Given the description of an element on the screen output the (x, y) to click on. 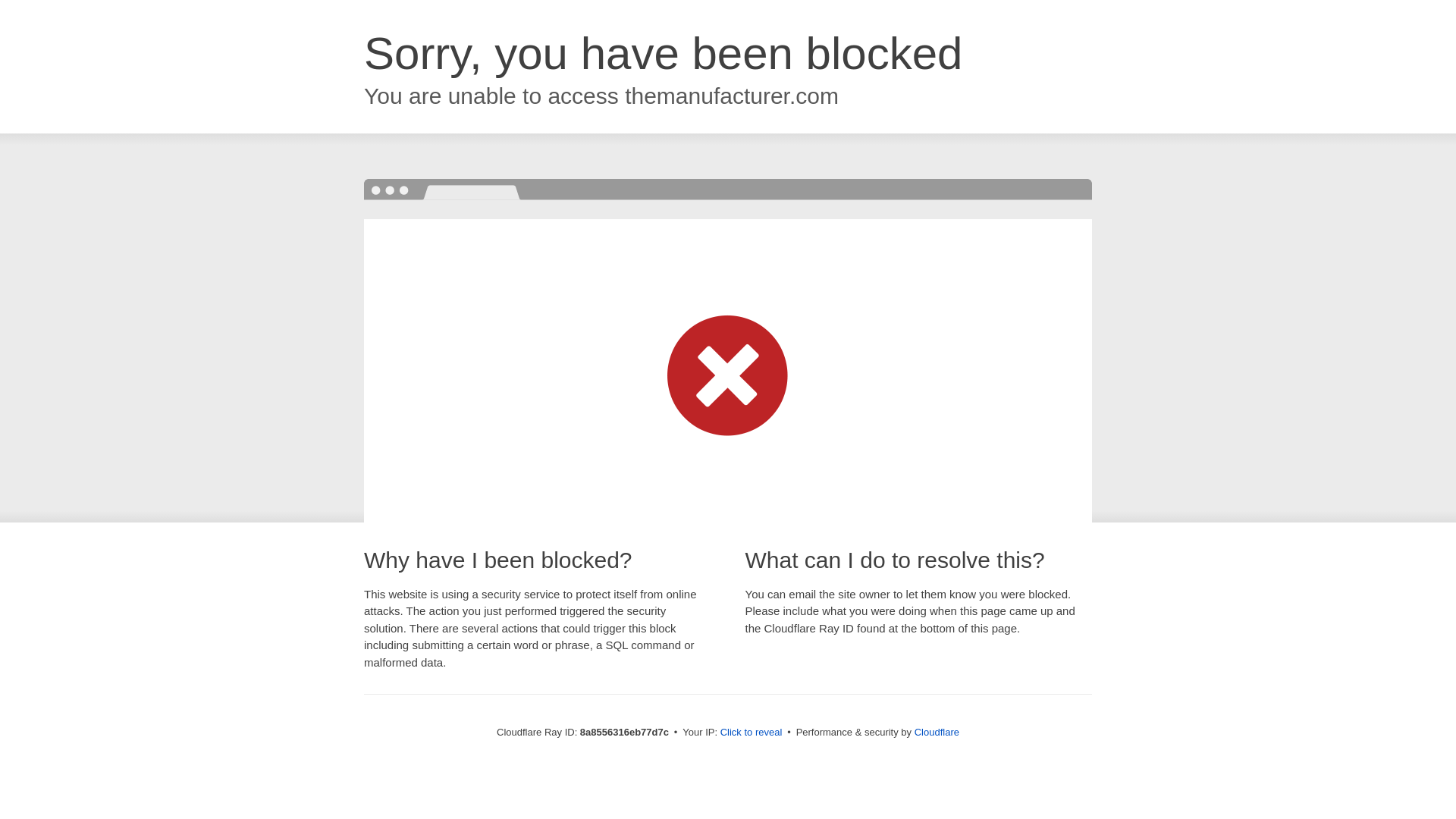
Cloudflare (936, 731)
Click to reveal (751, 732)
